Given the description of an element on the screen output the (x, y) to click on. 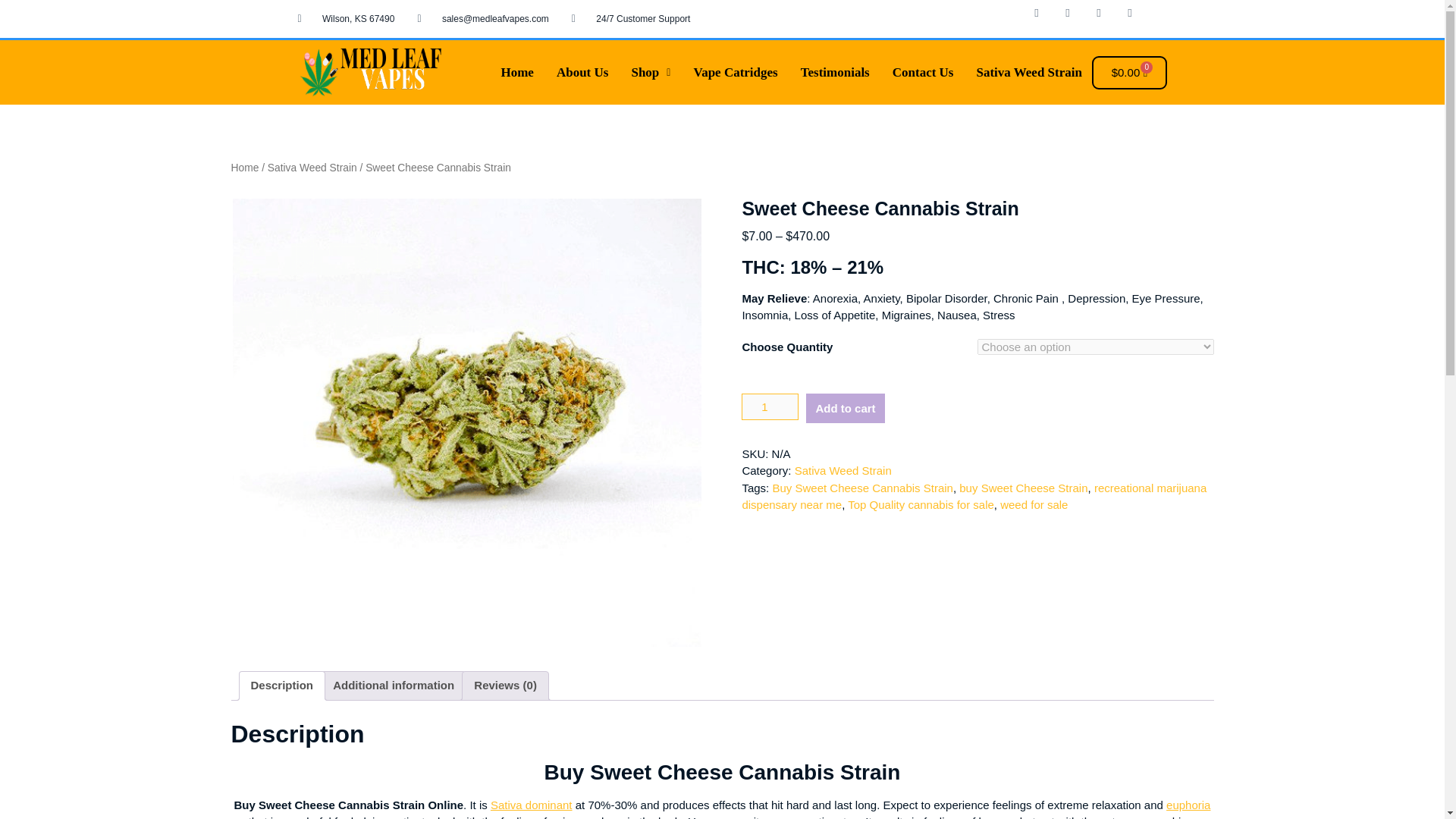
Sativa Weed Strain (1028, 72)
weed for sale (1033, 504)
Home (244, 167)
Contact Us (922, 72)
Additional information (393, 686)
buy Sweet Cheese Strain (1023, 487)
Description (281, 686)
Home (516, 72)
Add to cart (844, 408)
About Us (582, 72)
Top Quality cannabis for sale (920, 504)
Sativa Weed Strain (842, 470)
Shop (650, 72)
Testimonials (834, 72)
Vape Catridges (735, 72)
